Given the description of an element on the screen output the (x, y) to click on. 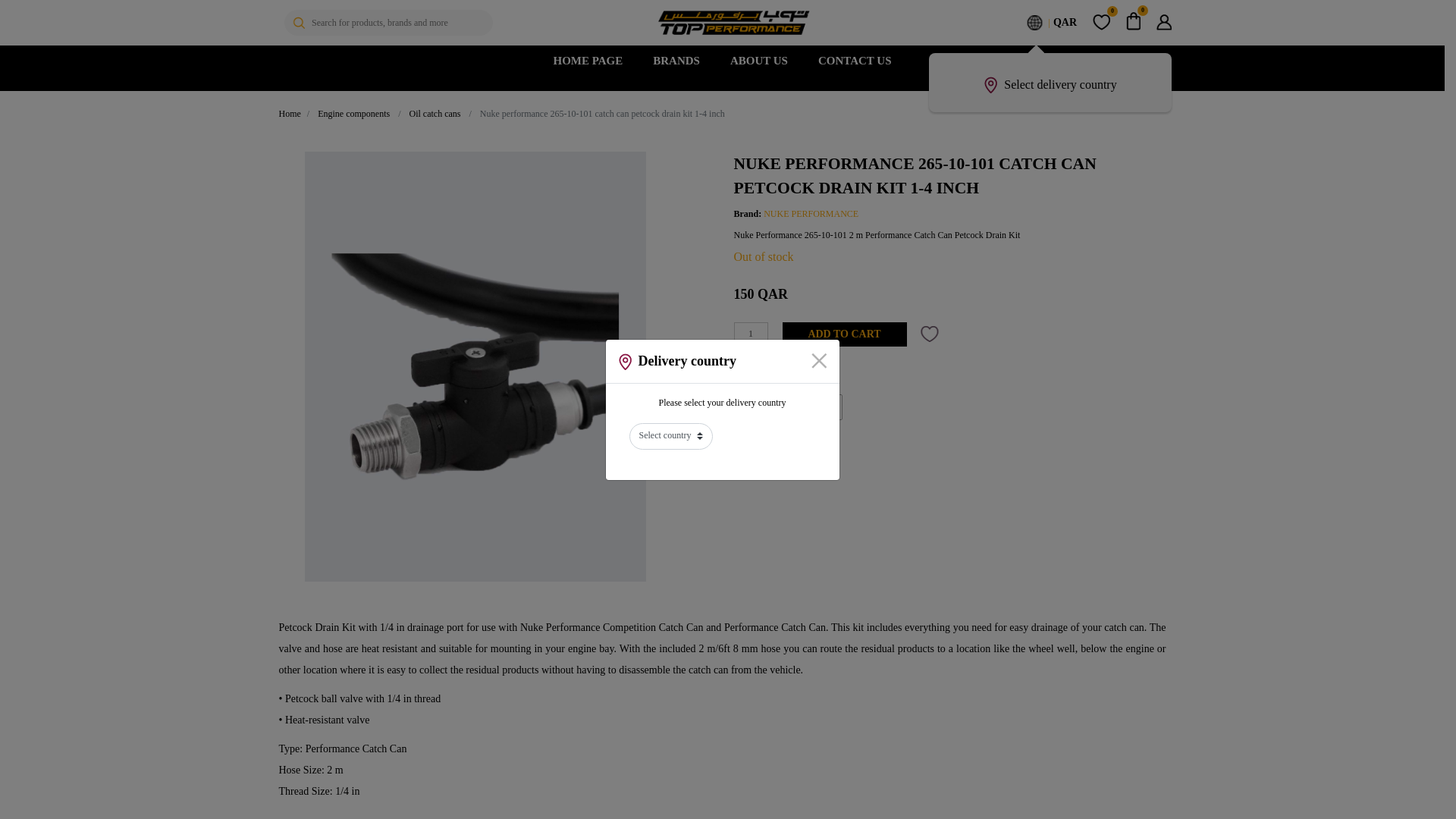
Search (298, 21)
ABOUT US (758, 60)
oil catch cans (435, 113)
0 (1100, 22)
Search (298, 21)
HOME PAGE (587, 60)
WhatsApp enquiry (788, 406)
Add to cart (845, 334)
CONTACT US (855, 60)
0 (1132, 22)
Shopping cart (1132, 22)
NUKE PERFORMANCE (810, 213)
home (290, 113)
engine components (353, 113)
Wishlist (1100, 22)
